Given the description of an element on the screen output the (x, y) to click on. 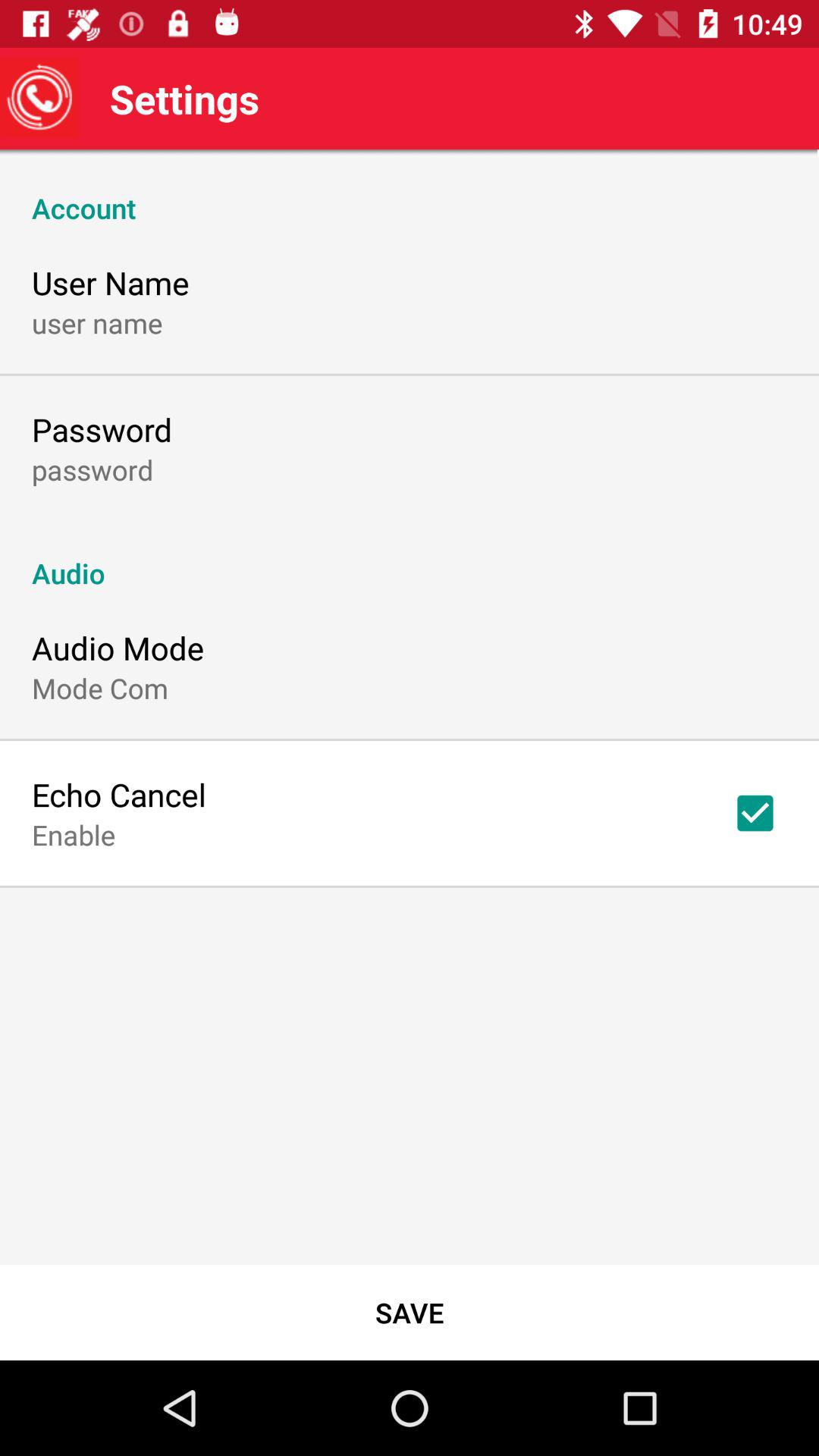
click the save icon (409, 1312)
